Given the description of an element on the screen output the (x, y) to click on. 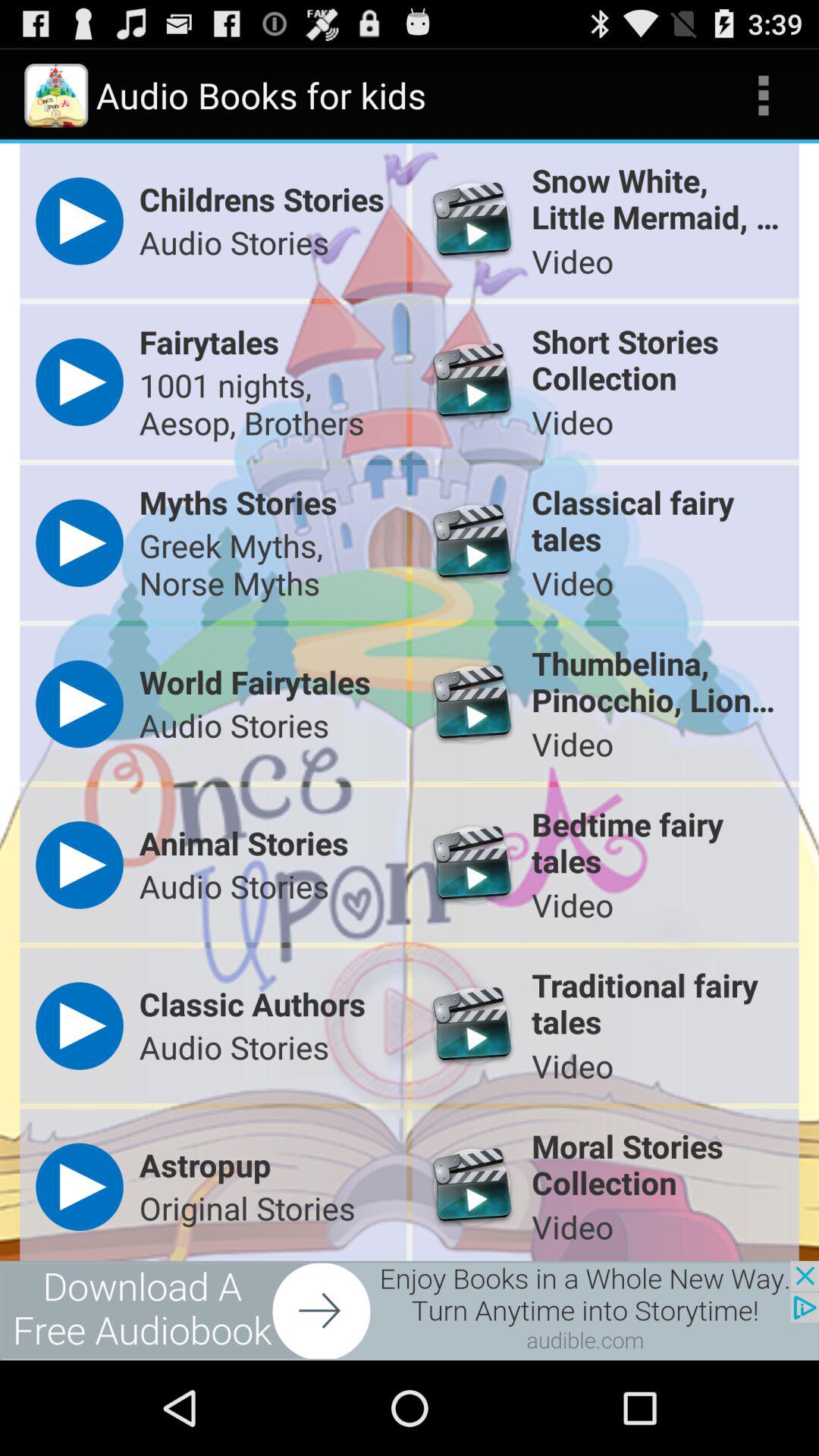
open advertisement (409, 1310)
